Given the description of an element on the screen output the (x, y) to click on. 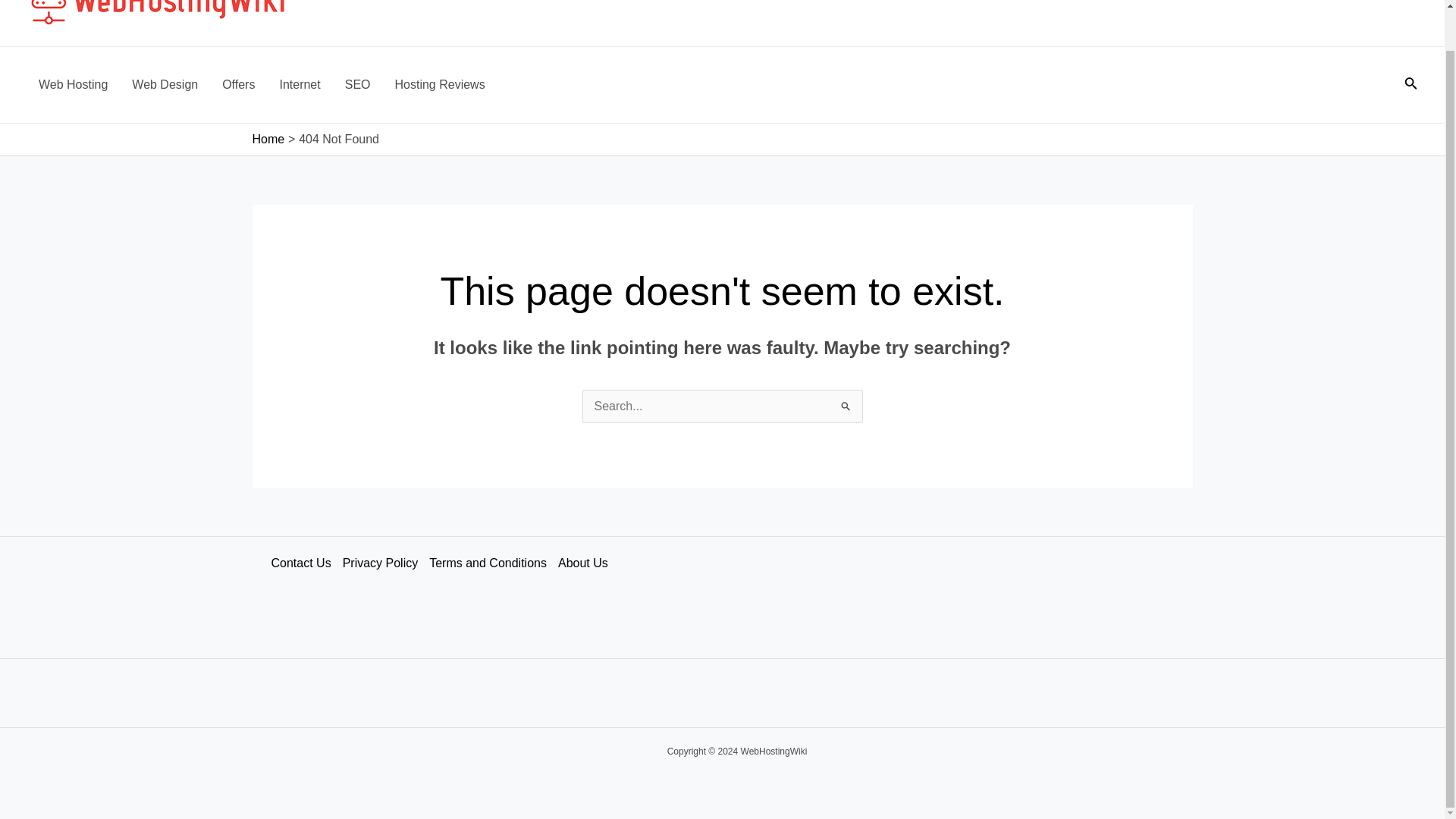
Privacy Policy (385, 563)
Contact Us (306, 563)
Web Hosting (72, 84)
Web Design (164, 84)
Search (844, 404)
Home (267, 138)
Search (844, 404)
Terms and Conditions (493, 563)
About Us (588, 563)
Search (844, 404)
